Given the description of an element on the screen output the (x, y) to click on. 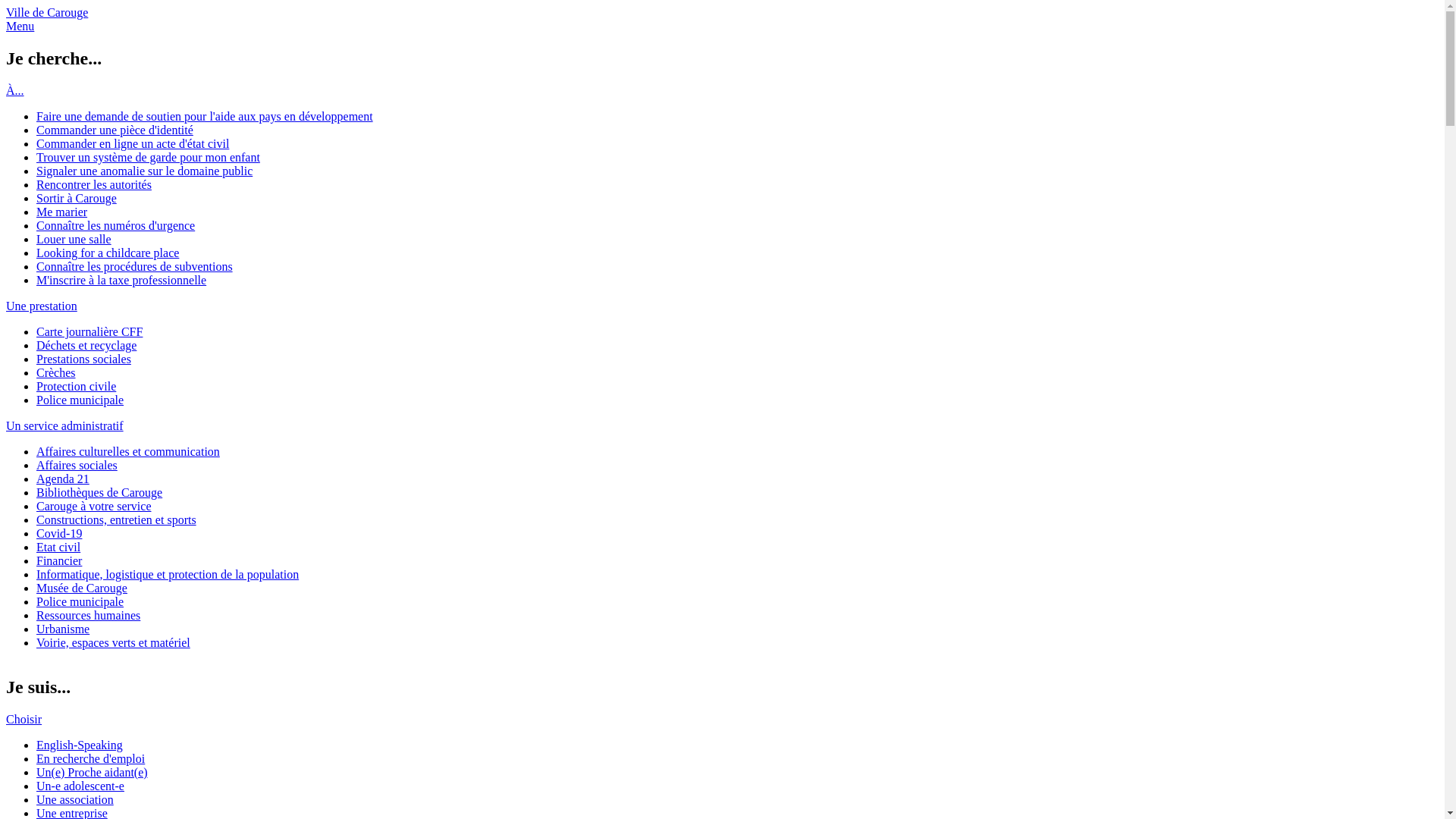
Affaires sociales Element type: text (76, 464)
Prestations sociales Element type: text (83, 358)
En recherche d'emploi Element type: text (90, 758)
Choisir Element type: text (23, 718)
Agenda 21 Element type: text (62, 478)
Me marier Element type: text (61, 211)
Urbanisme Element type: text (62, 628)
Etat civil Element type: text (58, 546)
Une prestation Element type: text (41, 305)
Informatique, logistique et protection de la population Element type: text (167, 573)
Un-e adolescent-e Element type: text (80, 785)
Ressources humaines Element type: text (88, 614)
Ville de Carouge Element type: text (46, 12)
Police municipale Element type: text (79, 601)
Affaires culturelles et communication Element type: text (127, 451)
Menu Element type: text (20, 25)
Financier Element type: text (58, 560)
Un(e) Proche aidant(e) Element type: text (91, 771)
Looking for a childcare place Element type: text (107, 252)
Un service administratif Element type: text (64, 425)
Constructions, entretien et sports Element type: text (116, 519)
Signaler une anomalie sur le domaine public Element type: text (144, 170)
Une association Element type: text (74, 799)
Aller au contenu principal Element type: text (69, 6)
Louer une salle Element type: text (73, 238)
Police municipale Element type: text (79, 399)
English-Speaking Element type: text (79, 744)
Covid-19 Element type: text (58, 533)
Protection civile Element type: text (76, 385)
